Given the description of an element on the screen output the (x, y) to click on. 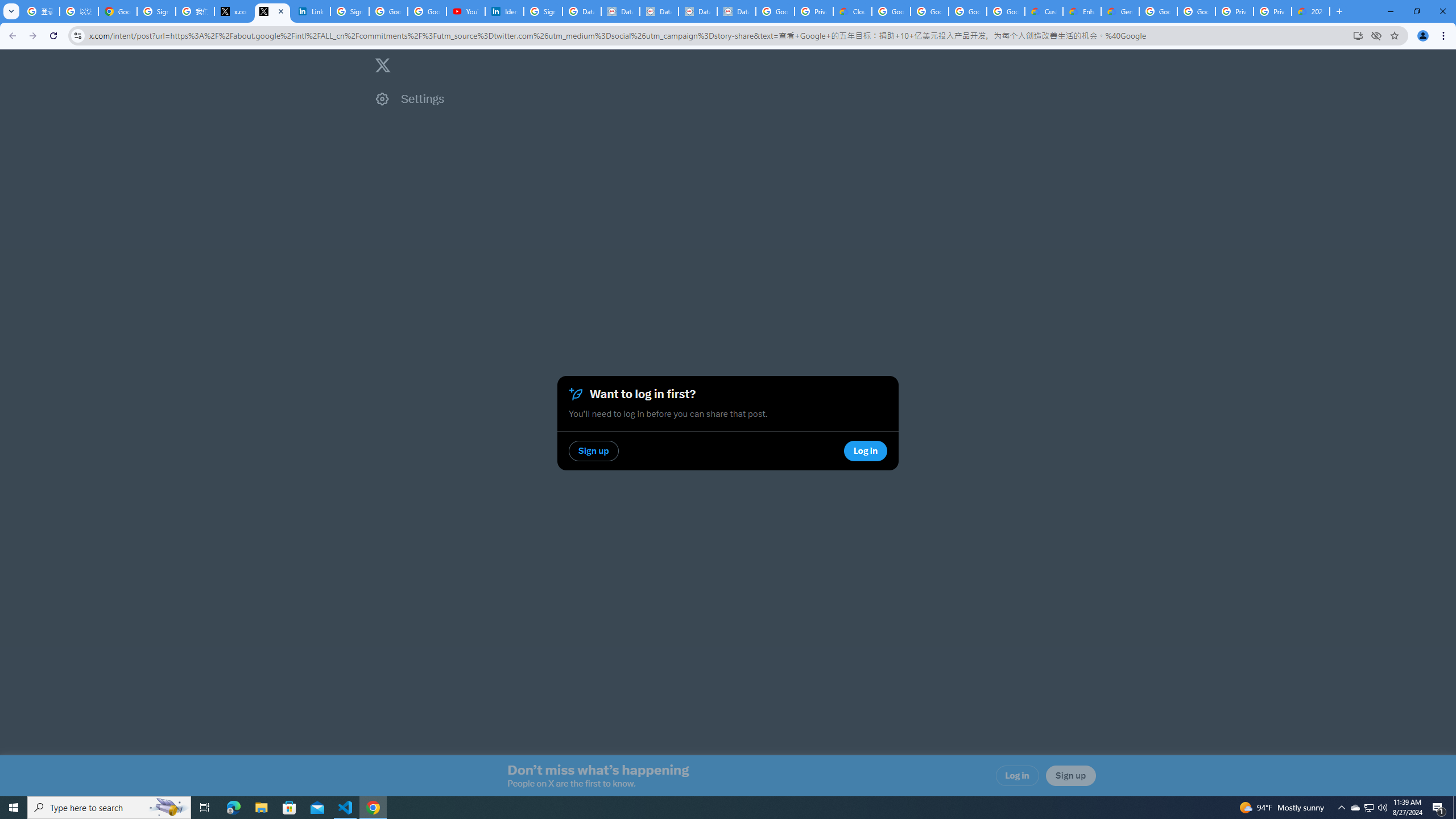
Log in (1017, 775)
Cloud Data Processing Addendum | Google Cloud (852, 11)
Sign up (1070, 775)
Enhanced Support | Google Cloud (1082, 11)
